Given the description of an element on the screen output the (x, y) to click on. 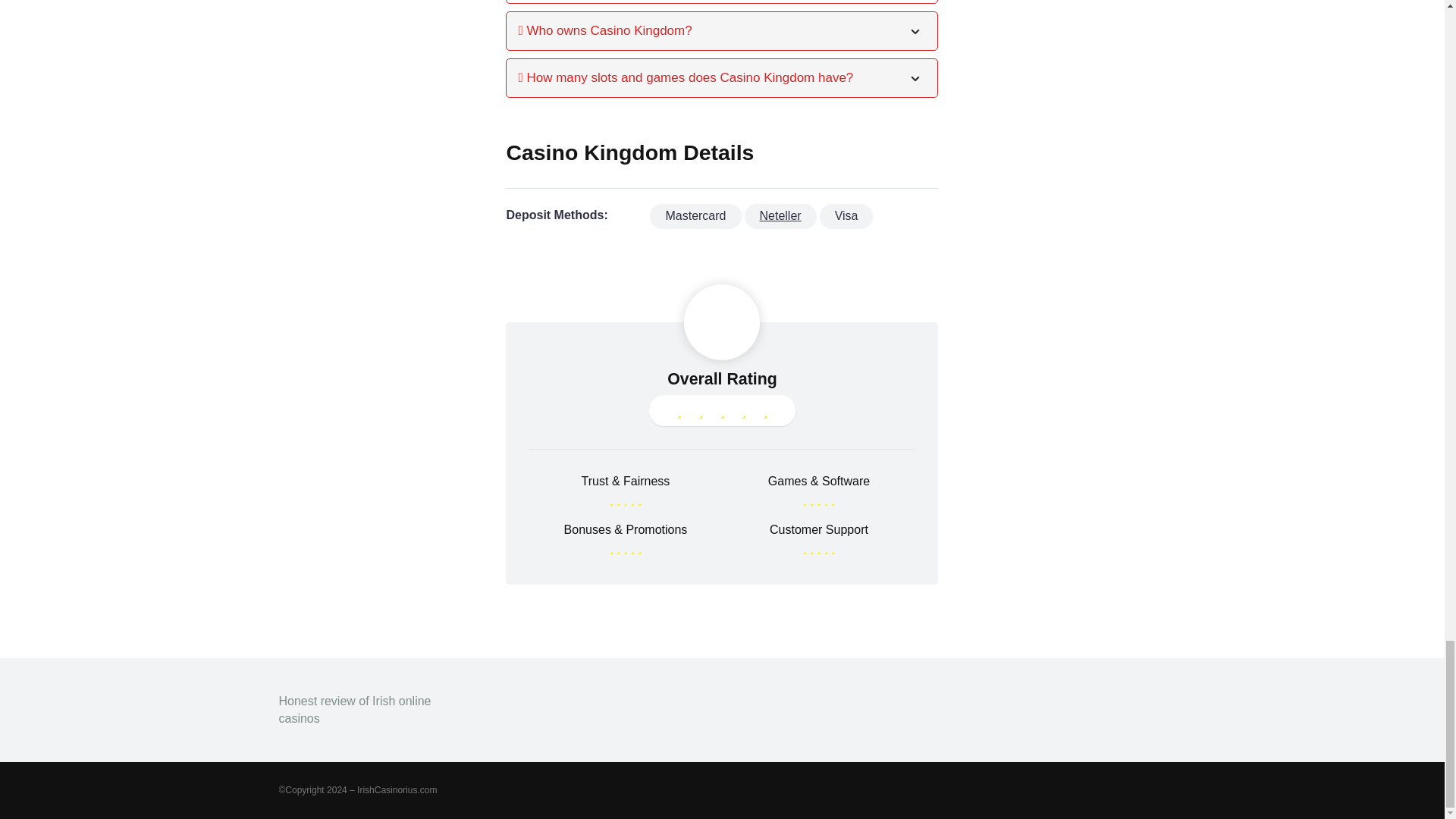
Visa (846, 215)
Neteller (780, 215)
Mastercard (695, 215)
Neteller (780, 215)
